Given the description of an element on the screen output the (x, y) to click on. 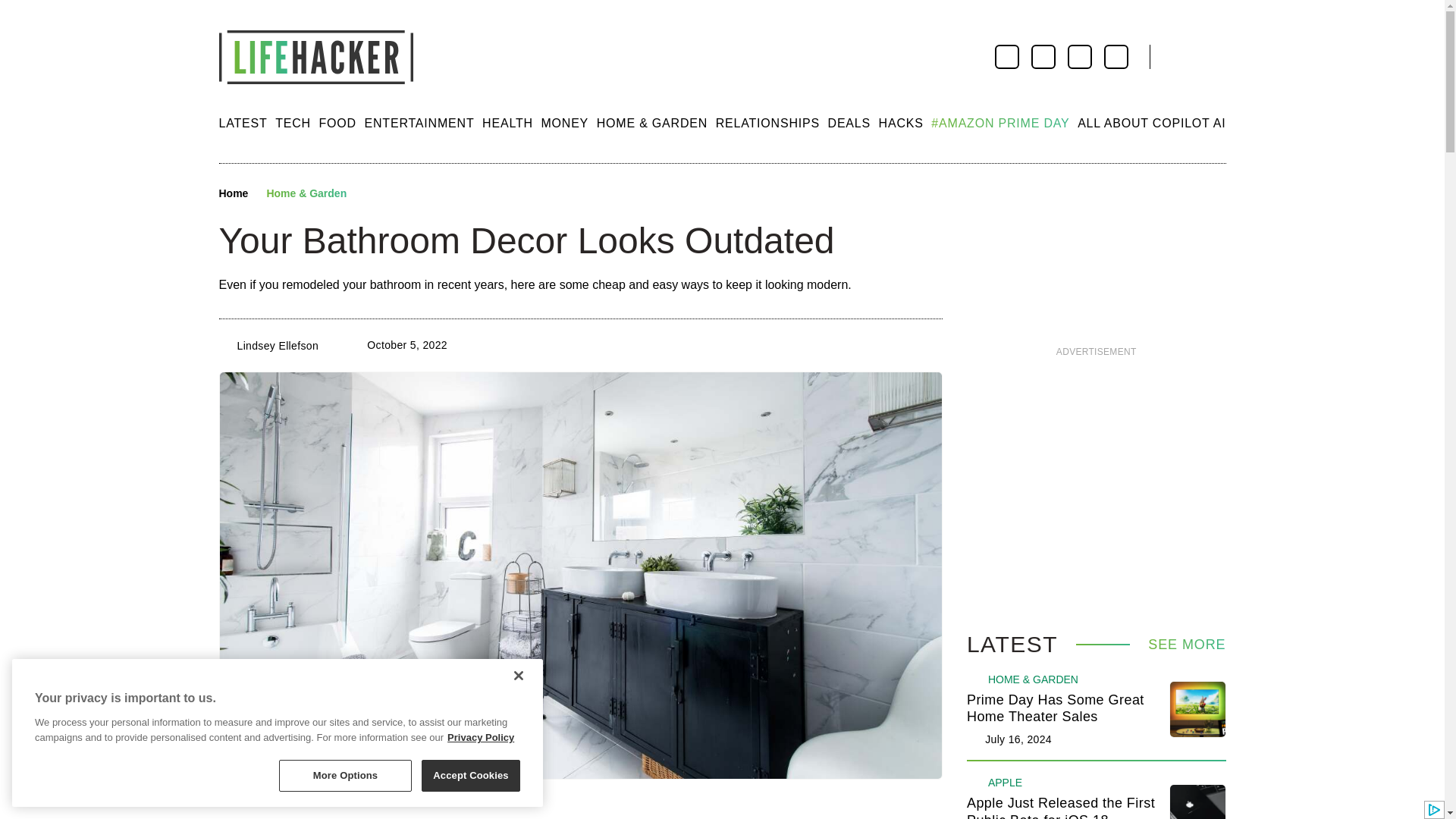
Home (232, 193)
DEALS (849, 123)
RELATIONSHIPS (767, 123)
Social Share (371, 193)
HEALTH (506, 123)
FOOD (337, 123)
TECH (293, 123)
LATEST (242, 123)
MONEY (564, 123)
HACKS (901, 123)
ENTERTAINMENT (419, 123)
ALL ABOUT COPILOT AI (1151, 123)
